Given the description of an element on the screen output the (x, y) to click on. 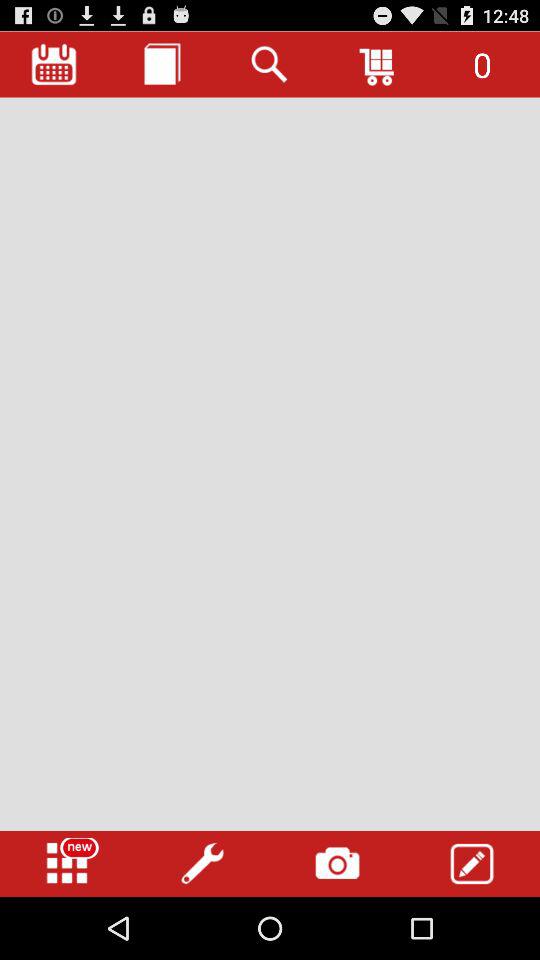
search (270, 64)
